Given the description of an element on the screen output the (x, y) to click on. 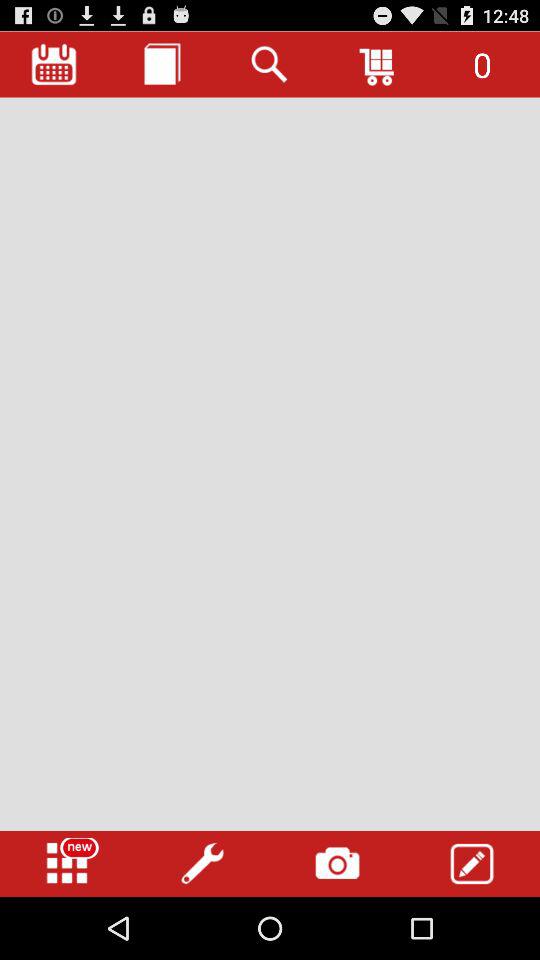
search (270, 64)
